Given the description of an element on the screen output the (x, y) to click on. 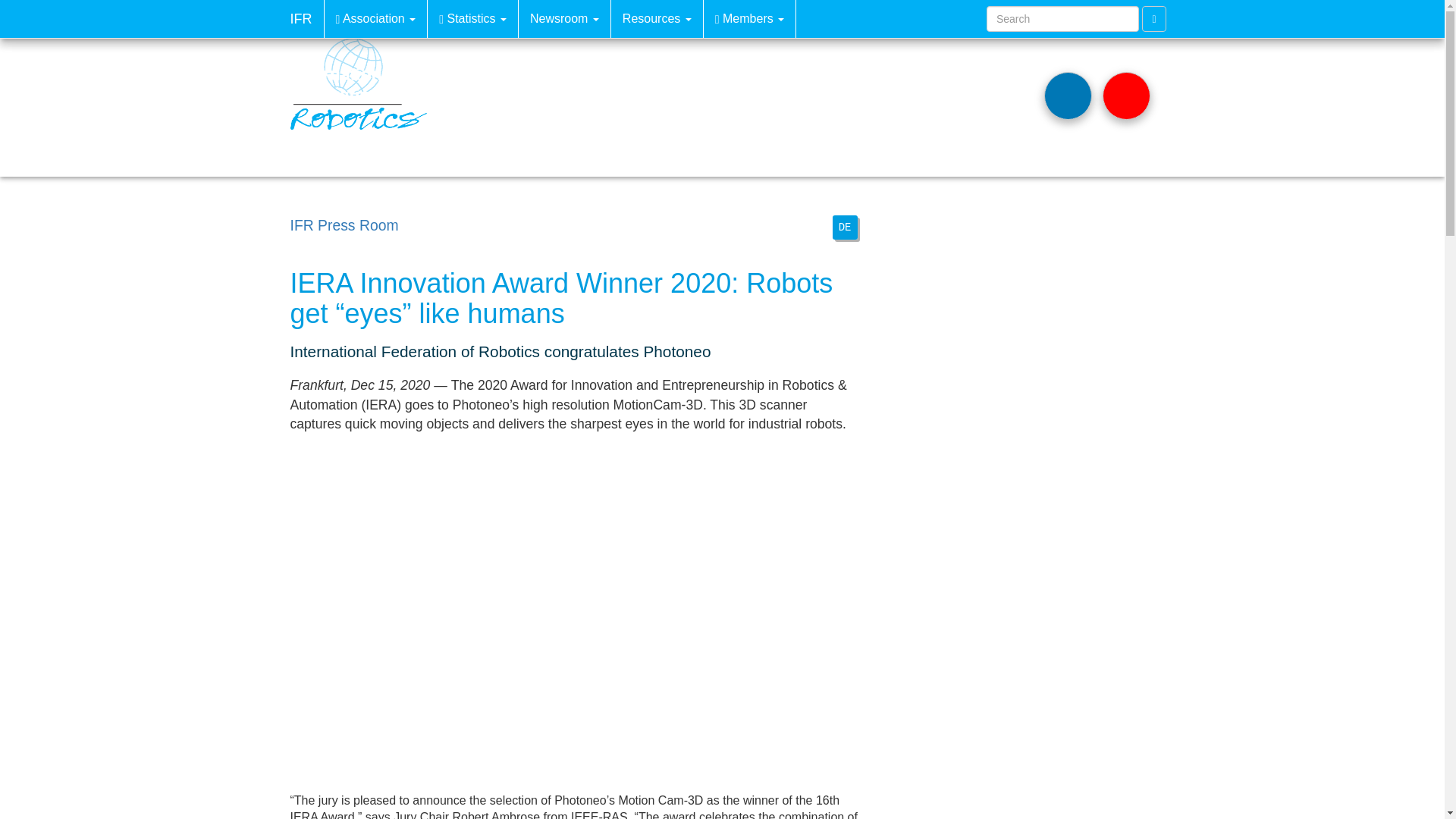
Resources (657, 18)
IFR (301, 18)
Association (376, 18)
Statistics (473, 18)
Members (748, 18)
German (844, 227)
Newsroom (564, 18)
